Given the description of an element on the screen output the (x, y) to click on. 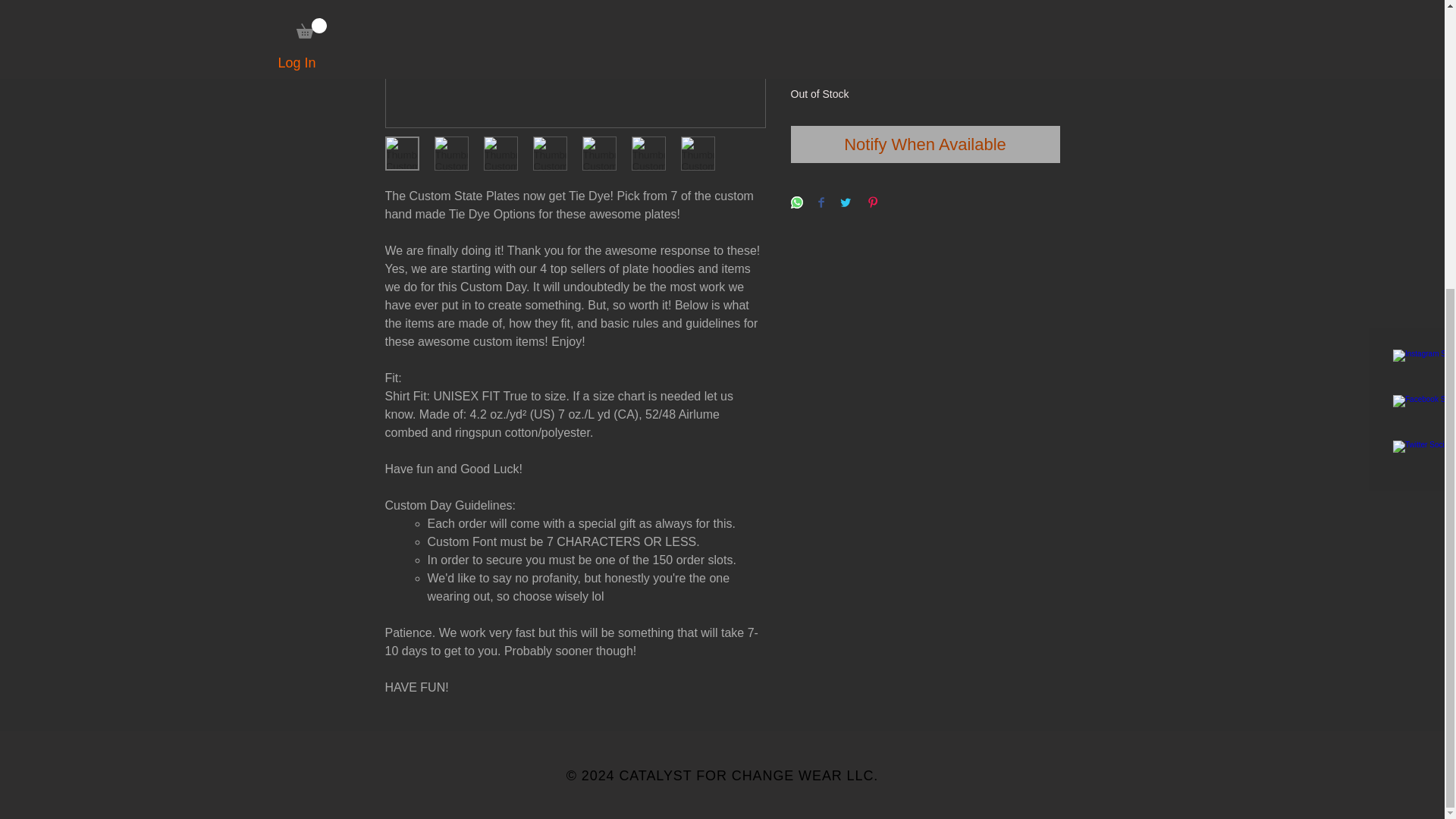
1 (818, 61)
